Given the description of an element on the screen output the (x, y) to click on. 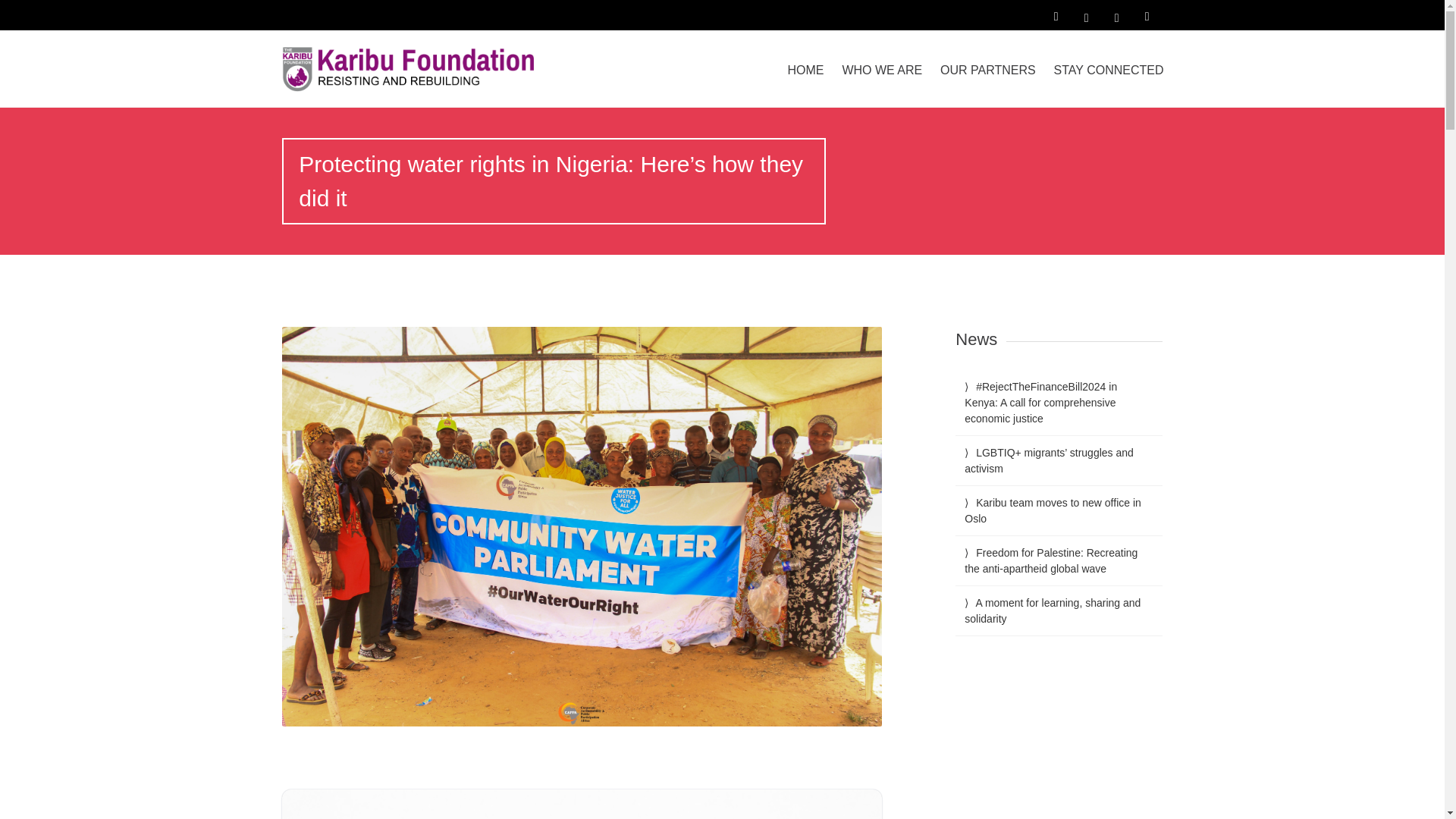
STAY CONNECTED (1109, 70)
Twitter (1117, 15)
WHO WE ARE (882, 70)
A moment for learning, sharing and solidarity (1051, 610)
Search (20, 11)
HOME (804, 70)
Karibu team moves to new office in Oslo (1052, 510)
OUR PARTNERS (988, 70)
Facebook (1086, 15)
Karibu Foundation -  (413, 68)
